Given the description of an element on the screen output the (x, y) to click on. 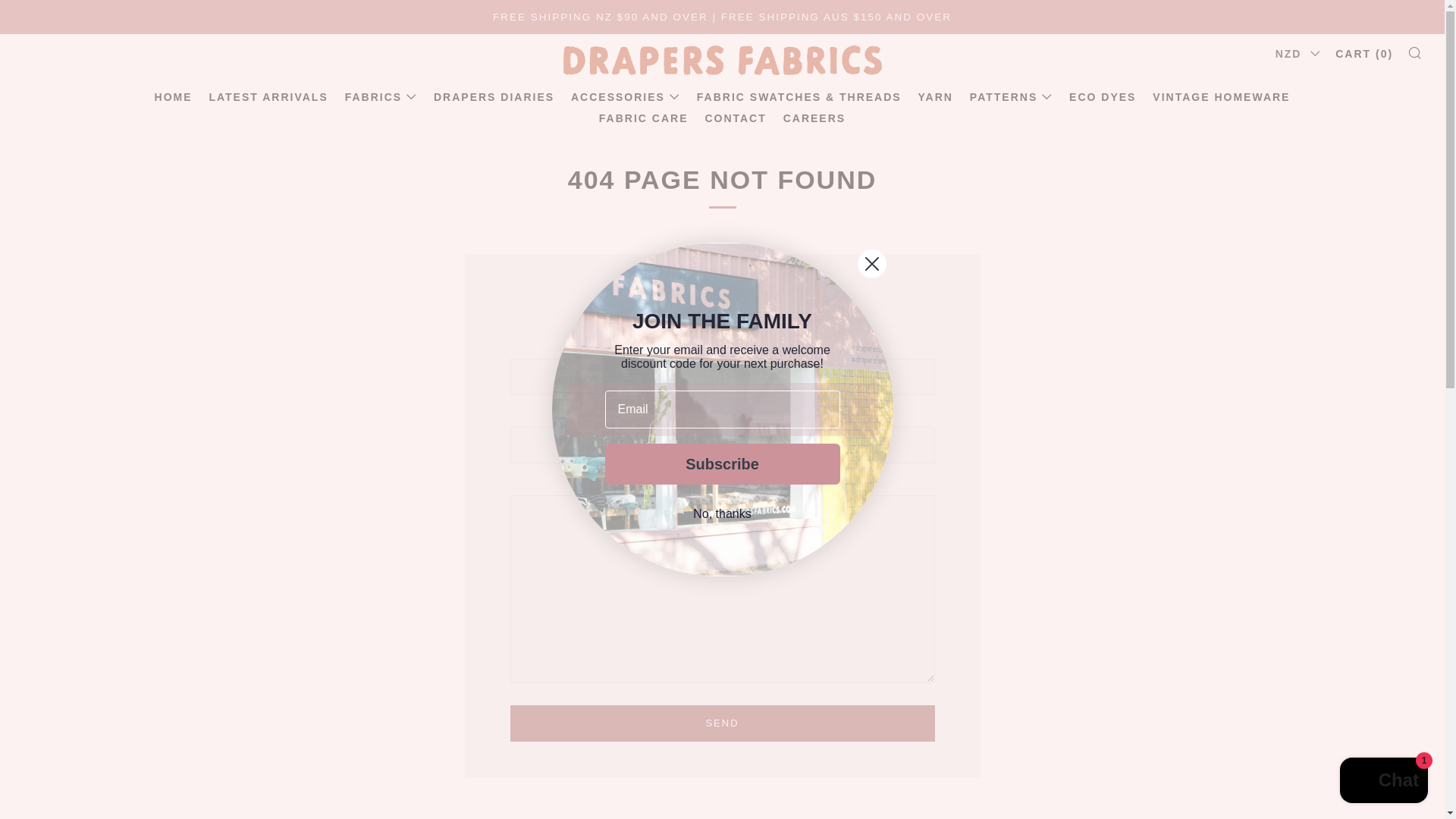
Send (721, 723)
Shopify online store chat (1383, 781)
